Given the description of an element on the screen output the (x, y) to click on. 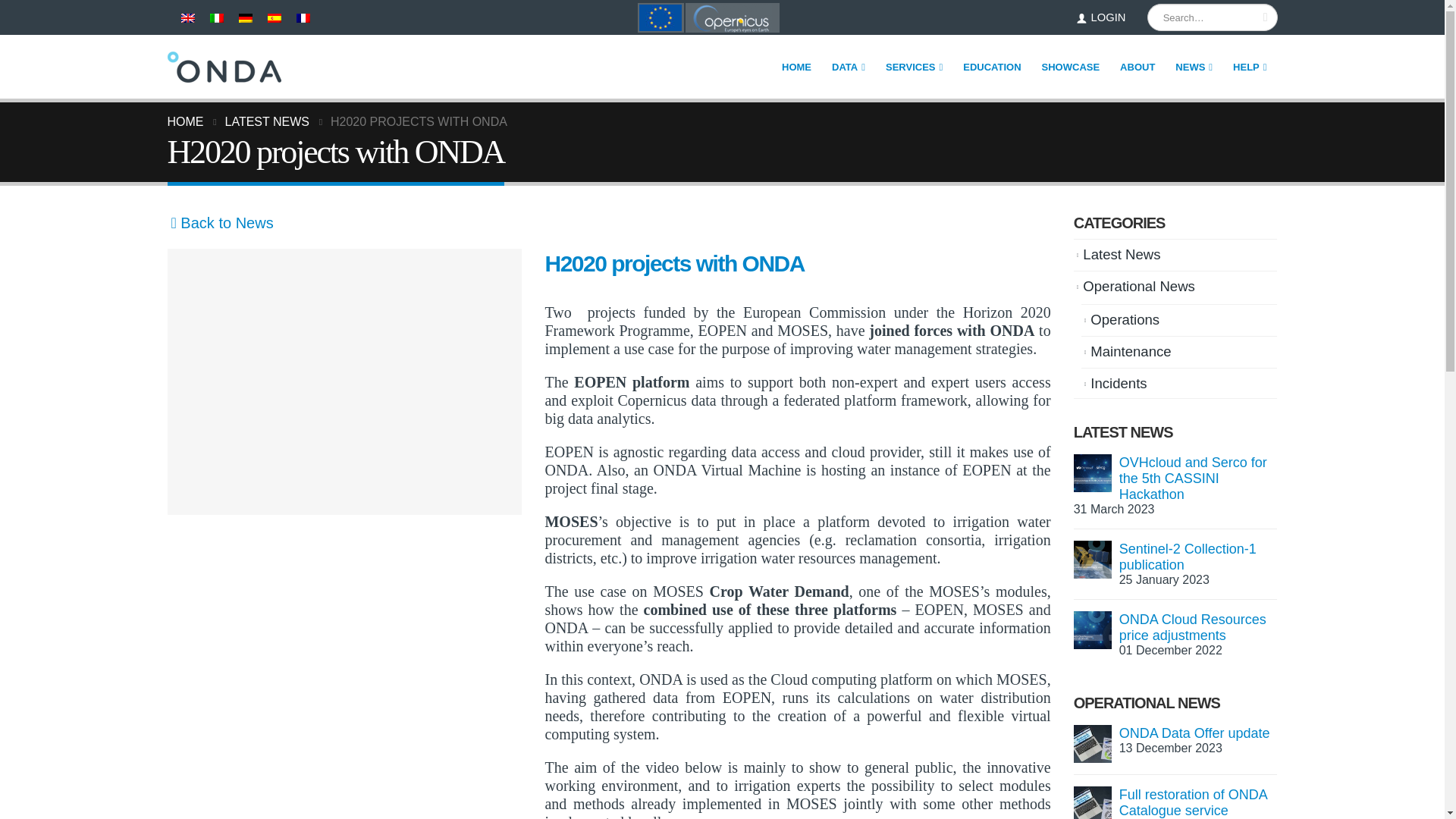
English (186, 17)
HELP (1249, 66)
NEWS (1194, 66)
ONDA-DIAS - People on data (224, 66)
EDUCATION (991, 66)
SERVICES (914, 66)
HOME (796, 66)
Deutsch (244, 17)
DATA (848, 66)
SHOWCASE (1070, 66)
Italiano (215, 17)
ABOUT (1136, 66)
